Given the description of an element on the screen output the (x, y) to click on. 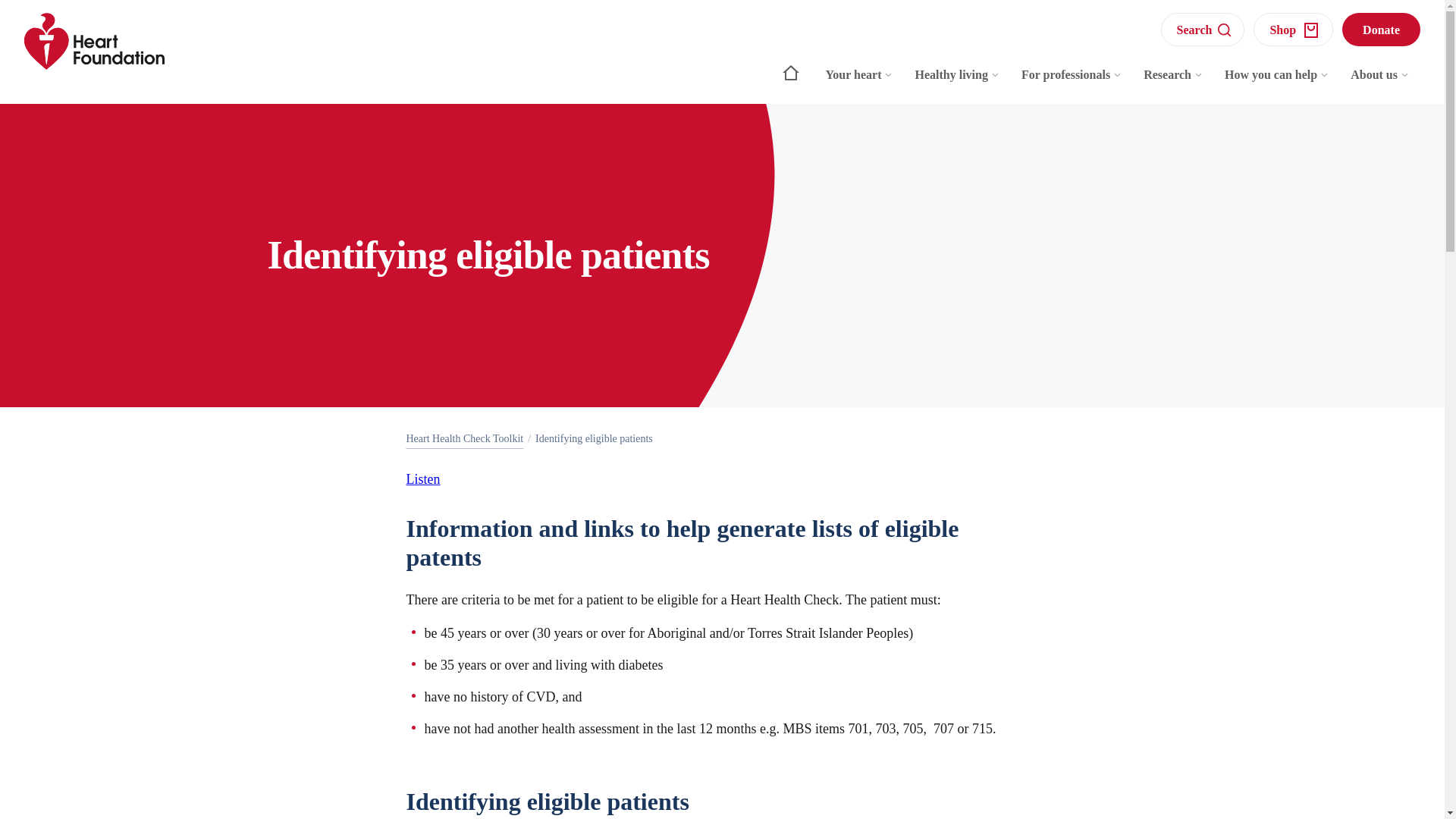
Heart Health Check Toolkit (465, 438)
About us (1380, 81)
How you can help (1276, 81)
Your heart (859, 81)
For professionals (1071, 81)
Search (1202, 29)
Listen (423, 478)
Research (1173, 81)
Healthy living (957, 81)
Listen to this page using ReadSpeaker webReader (423, 478)
